Given the description of an element on the screen output the (x, y) to click on. 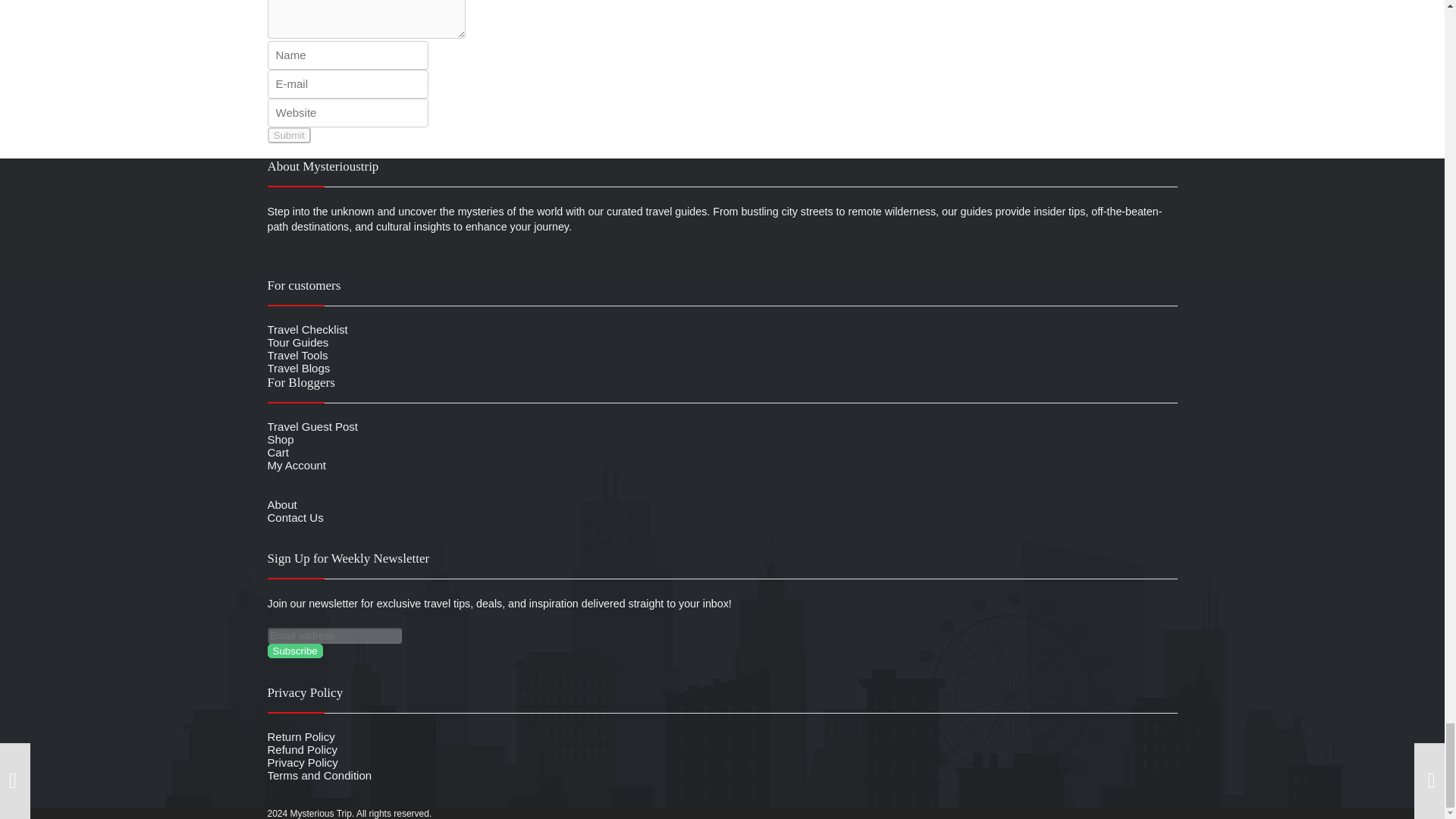
Subscribe (293, 650)
Submit (288, 135)
